Given the description of an element on the screen output the (x, y) to click on. 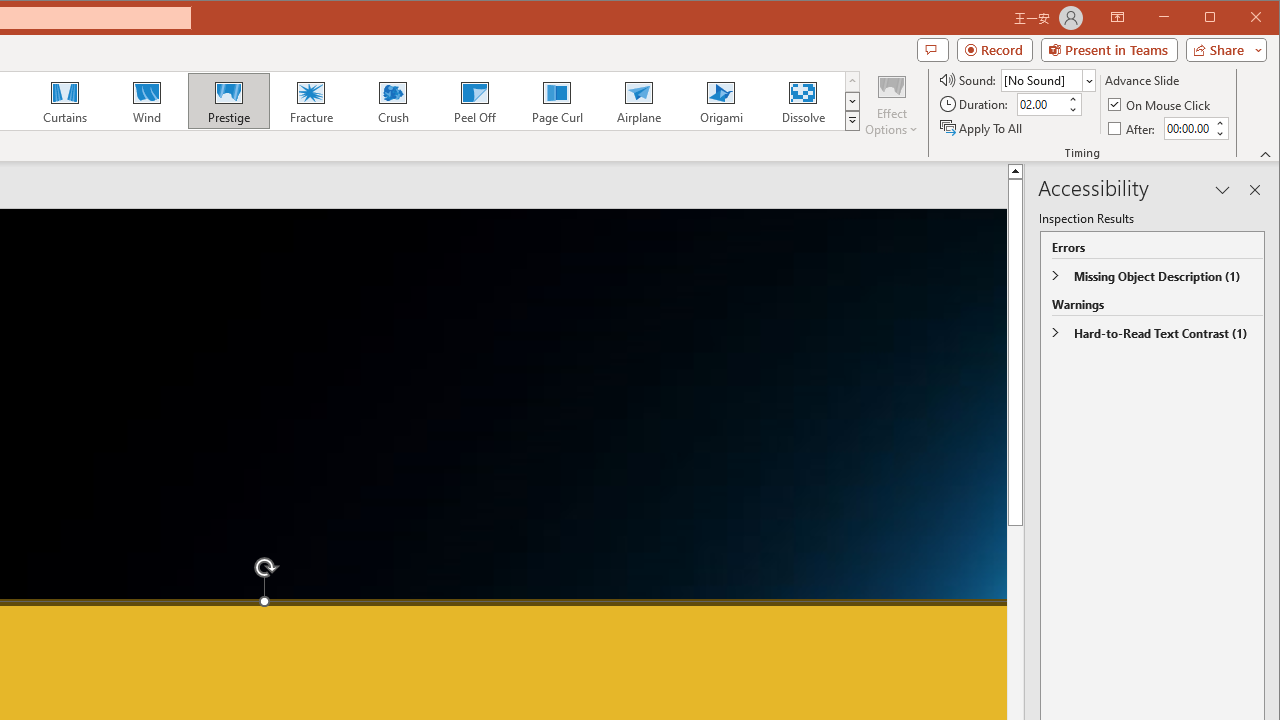
Airplane (638, 100)
After (1133, 127)
After (1187, 128)
Apply To All (982, 127)
Curtains (65, 100)
Crush (392, 100)
Effect Options (891, 104)
Origami (720, 100)
